Given the description of an element on the screen output the (x, y) to click on. 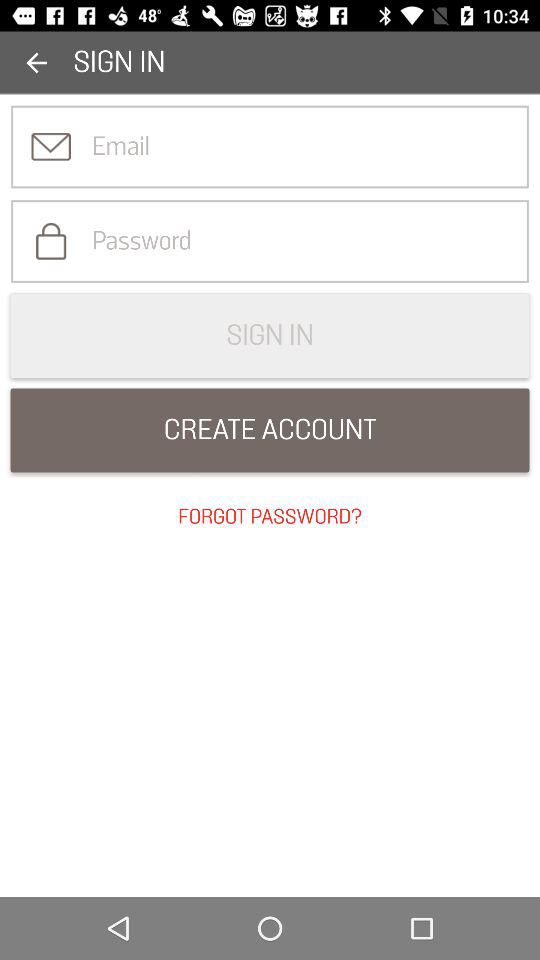
choose item above the forgot password? icon (269, 430)
